Given the description of an element on the screen output the (x, y) to click on. 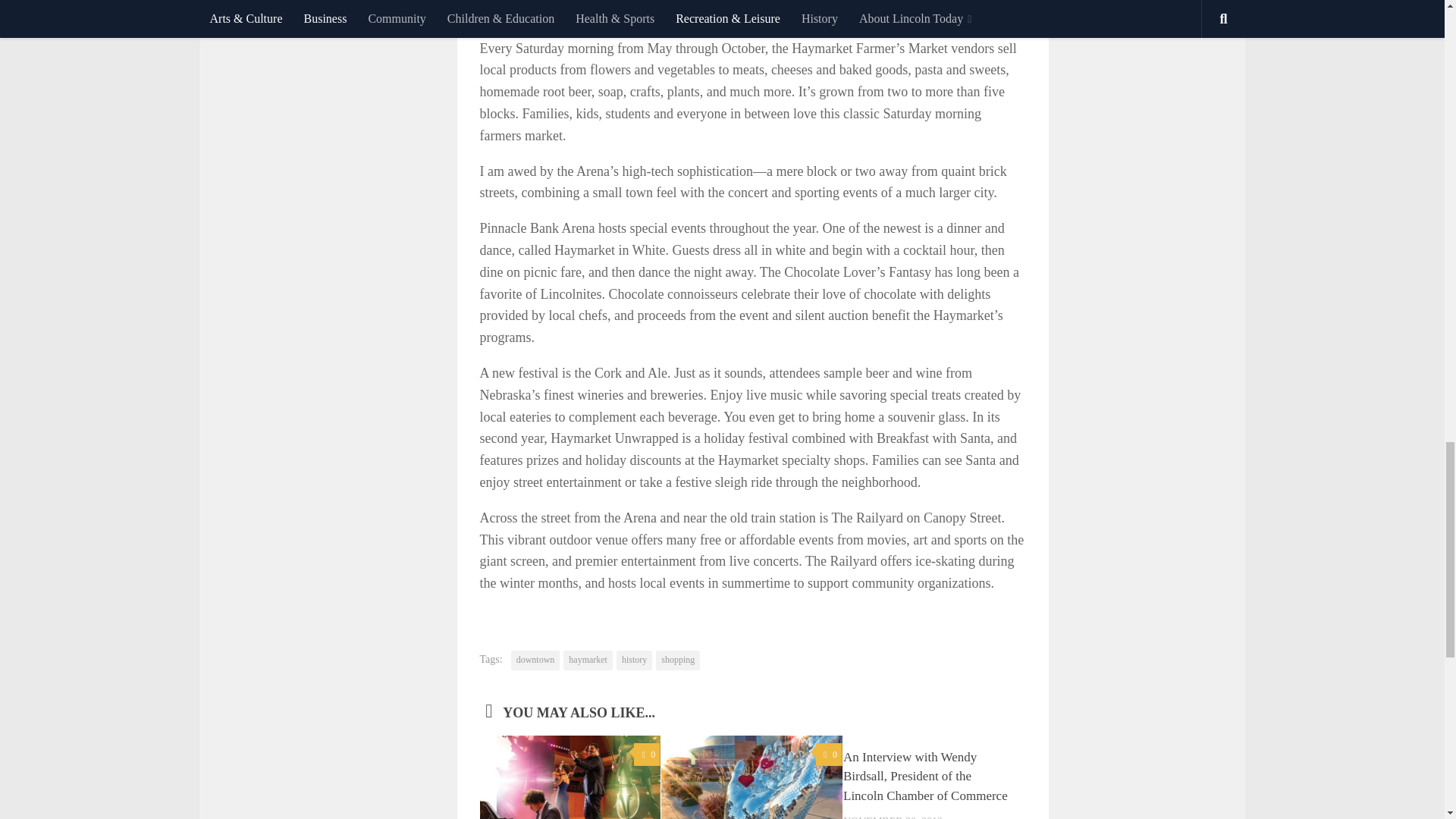
0 (647, 754)
haymarket (587, 660)
history (633, 660)
shopping (678, 660)
downtown (535, 660)
